Given the description of an element on the screen output the (x, y) to click on. 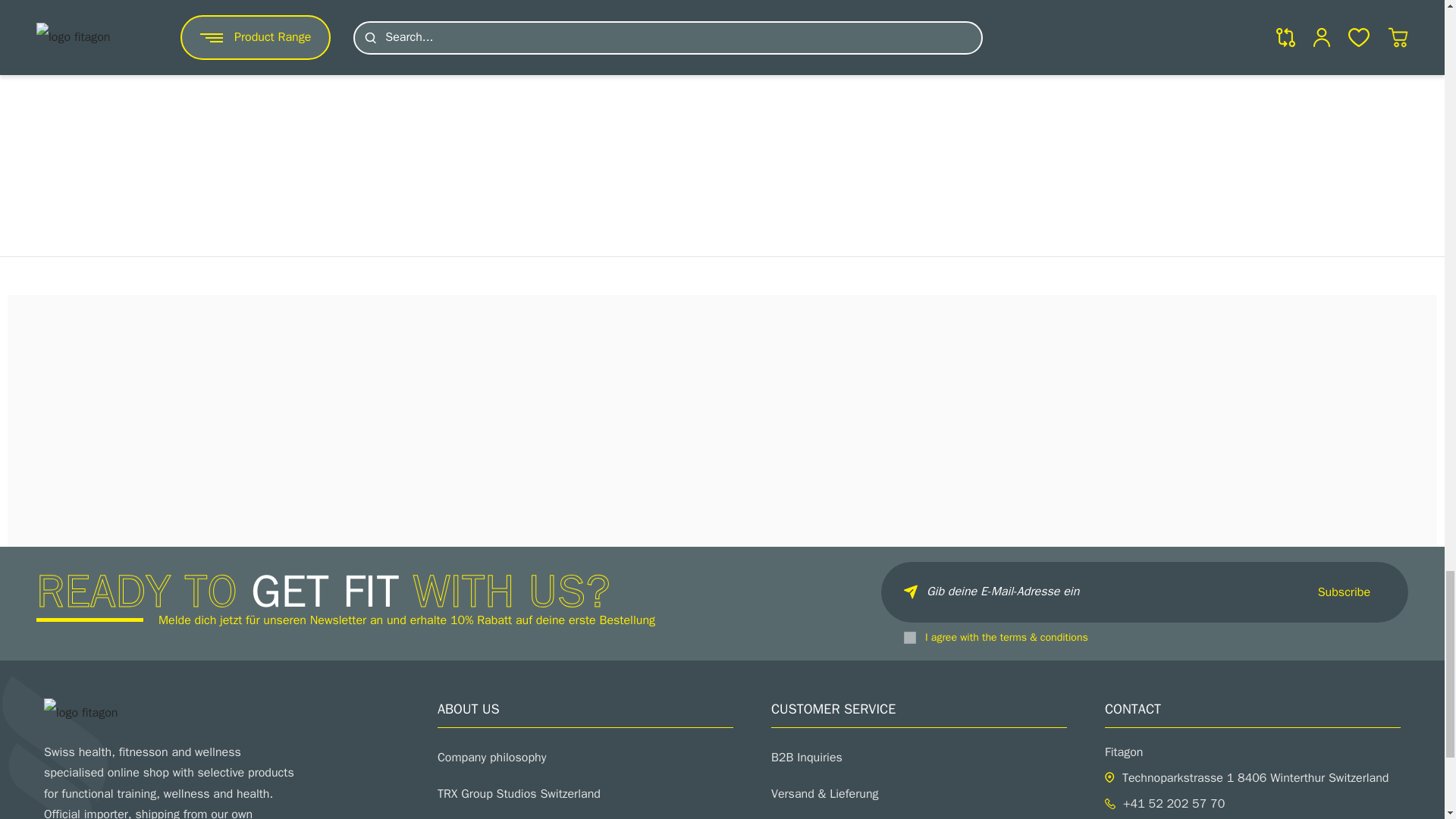
Subscribe (1344, 591)
on (909, 637)
Subscribe to our newsletter... (1143, 591)
